Given the description of an element on the screen output the (x, y) to click on. 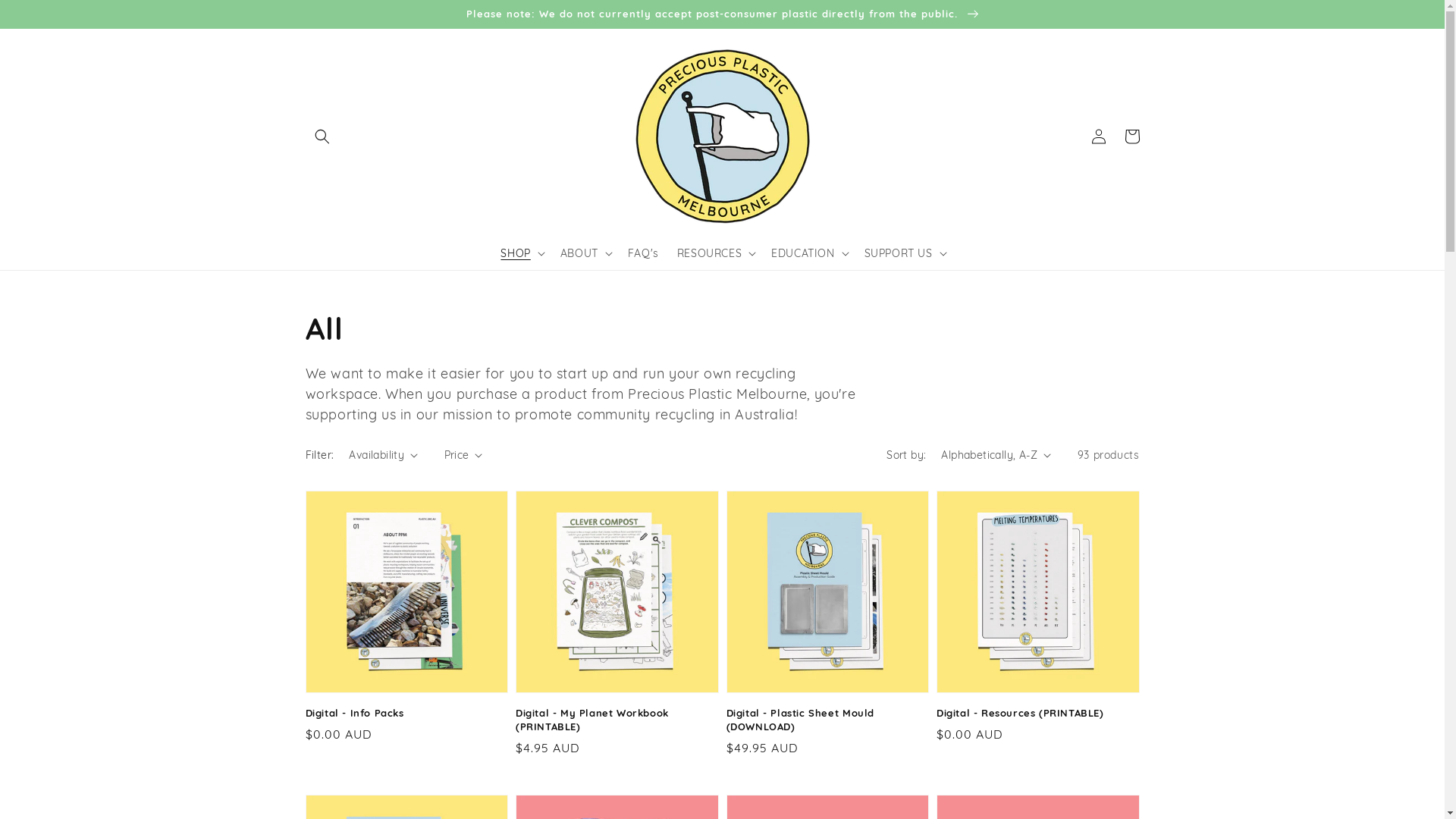
Cart Element type: text (1131, 136)
Digital - Resources (PRINTABLE) Element type: text (1033, 712)
Digital - Info Packs Element type: text (401, 712)
Log in Element type: text (1097, 136)
Digital - Plastic Sheet Mould (DOWNLOAD) Element type: text (823, 719)
FAQ's Element type: text (643, 253)
Digital - My Planet Workbook (PRINTABLE) Element type: text (612, 719)
